Given the description of an element on the screen output the (x, y) to click on. 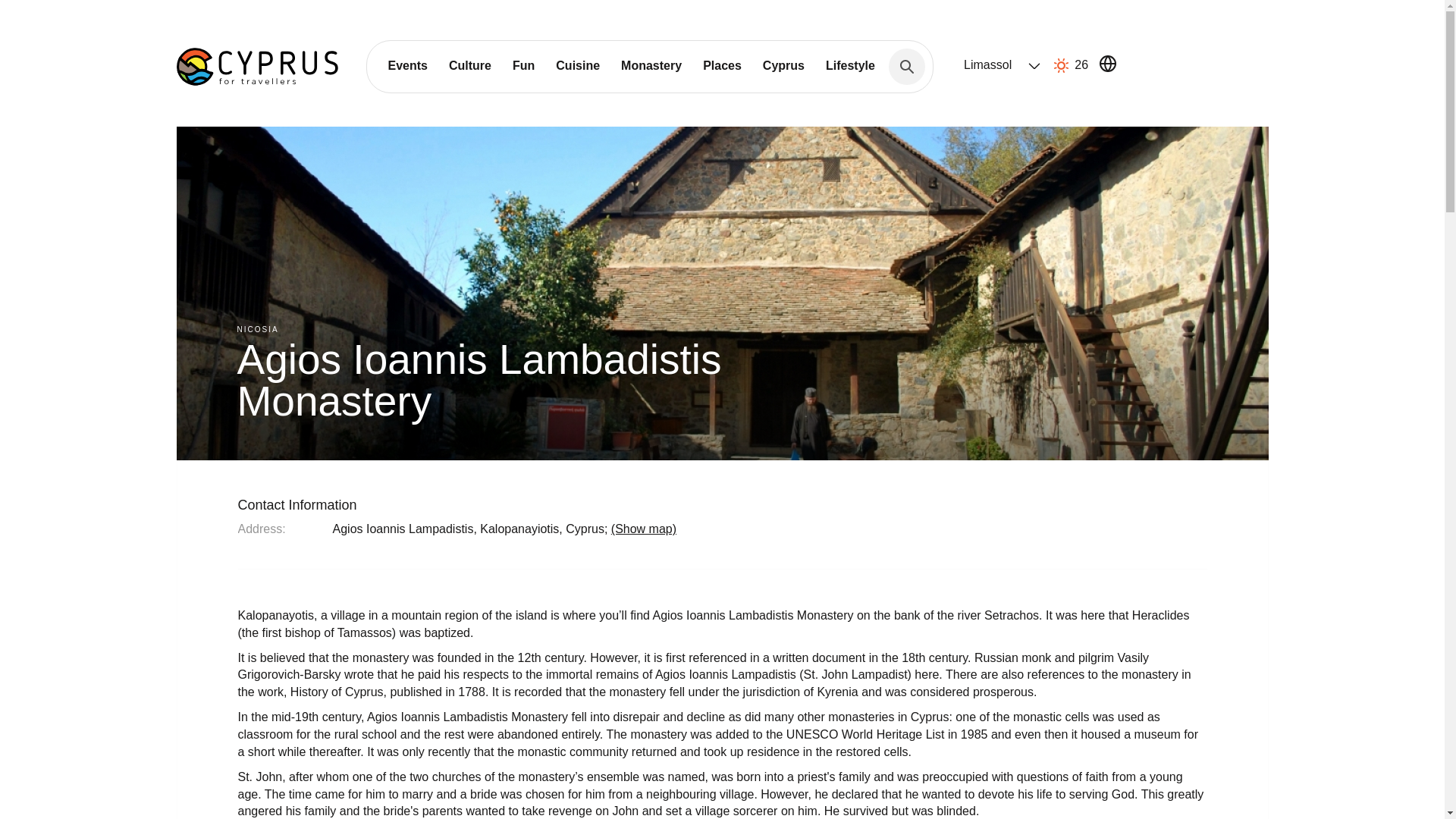
Events (407, 65)
Cyprus (783, 65)
Cuisine (577, 65)
Places (722, 65)
Fun (523, 65)
NICOSIA (256, 329)
Lifestyle (850, 65)
Culture (470, 65)
Monastery (651, 65)
